Given the description of an element on the screen output the (x, y) to click on. 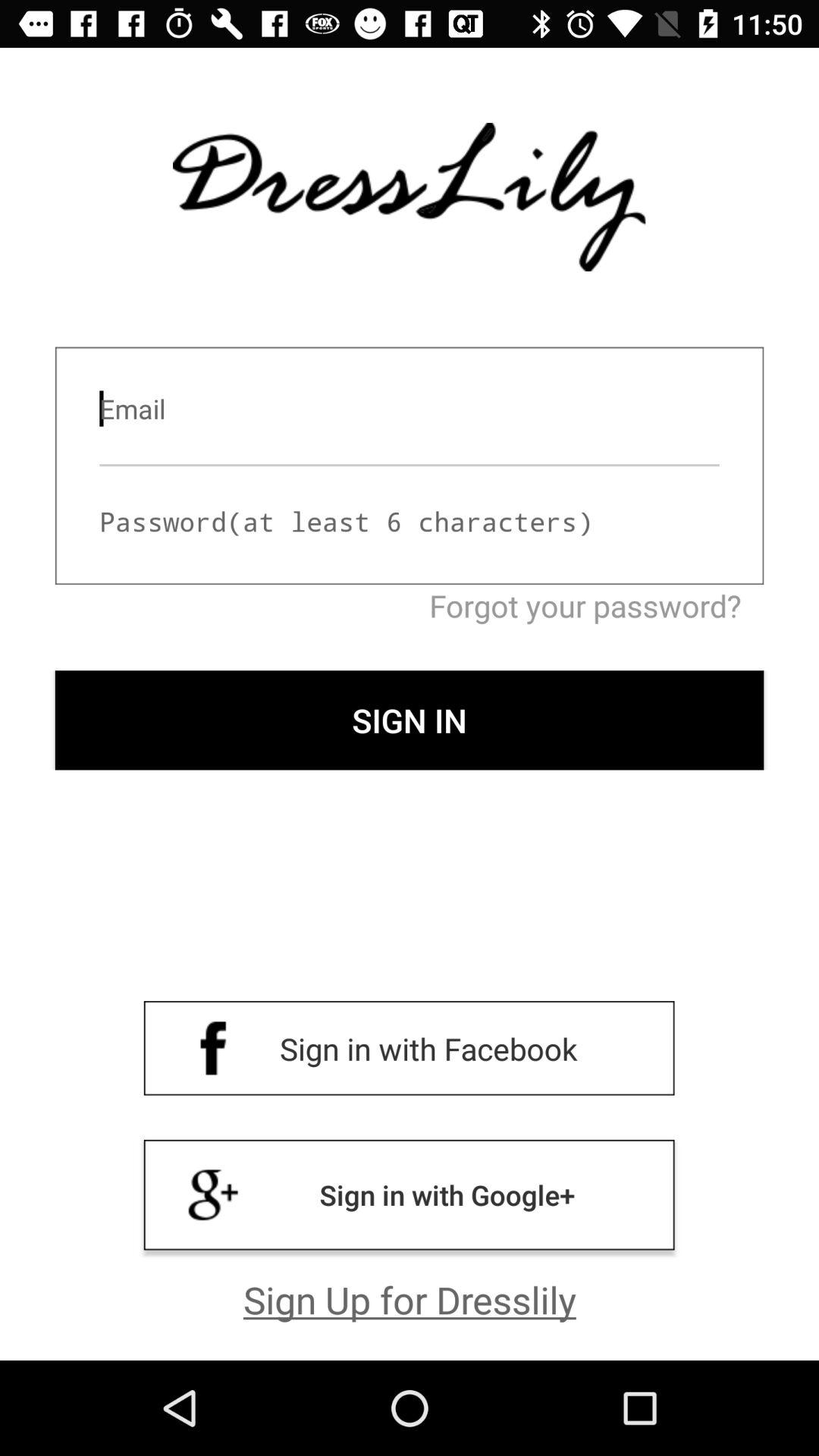
tap the sign up for (409, 1299)
